Given the description of an element on the screen output the (x, y) to click on. 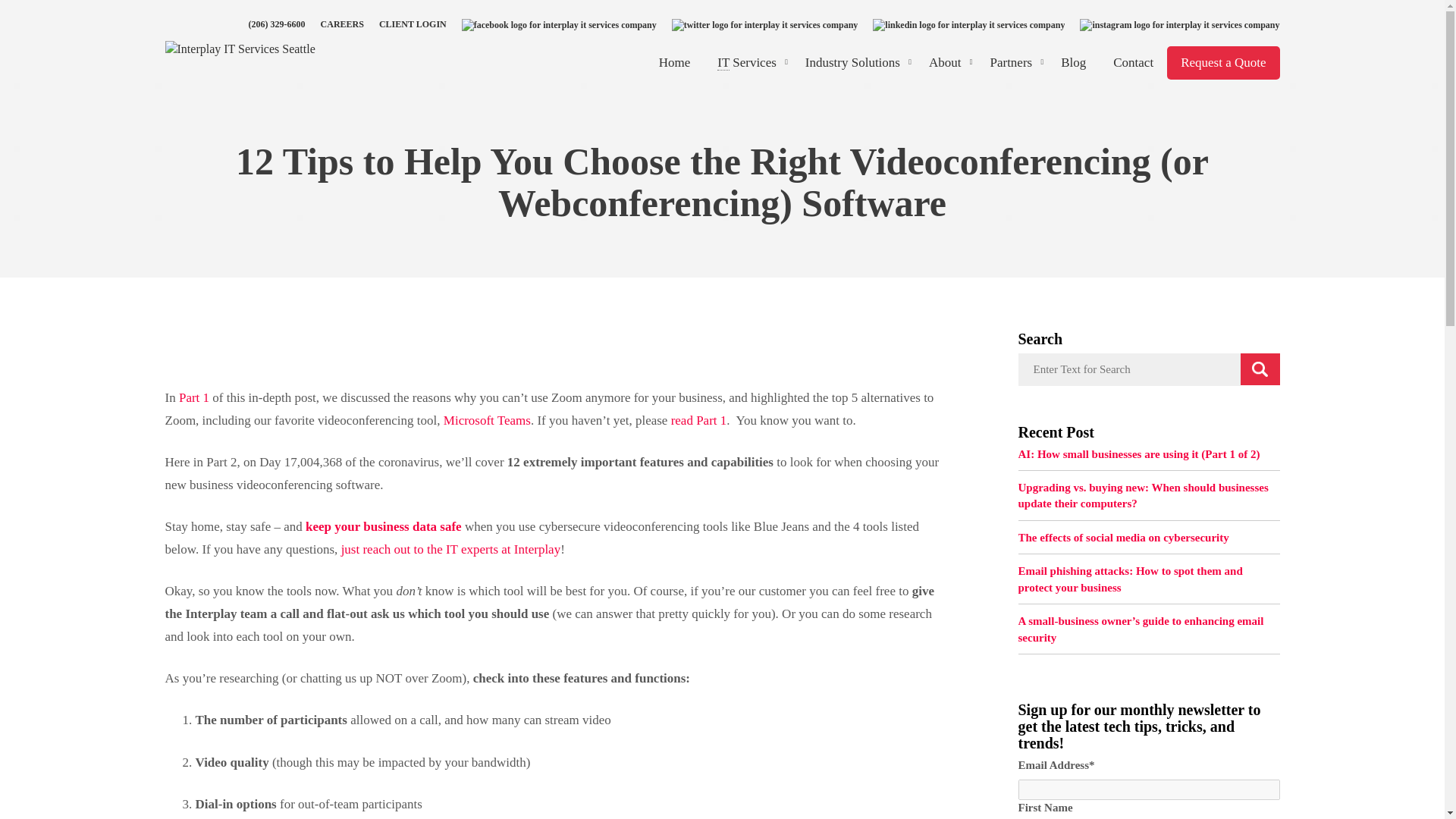
IT Services (747, 62)
CAREERS (342, 23)
Partners (1010, 62)
Contact (1133, 62)
Information Technology (723, 62)
Blog (1072, 62)
About (945, 62)
Industry Solutions (853, 62)
Request a Quote (1223, 62)
CLIENT LOGIN (412, 23)
Home (674, 62)
